Given the description of an element on the screen output the (x, y) to click on. 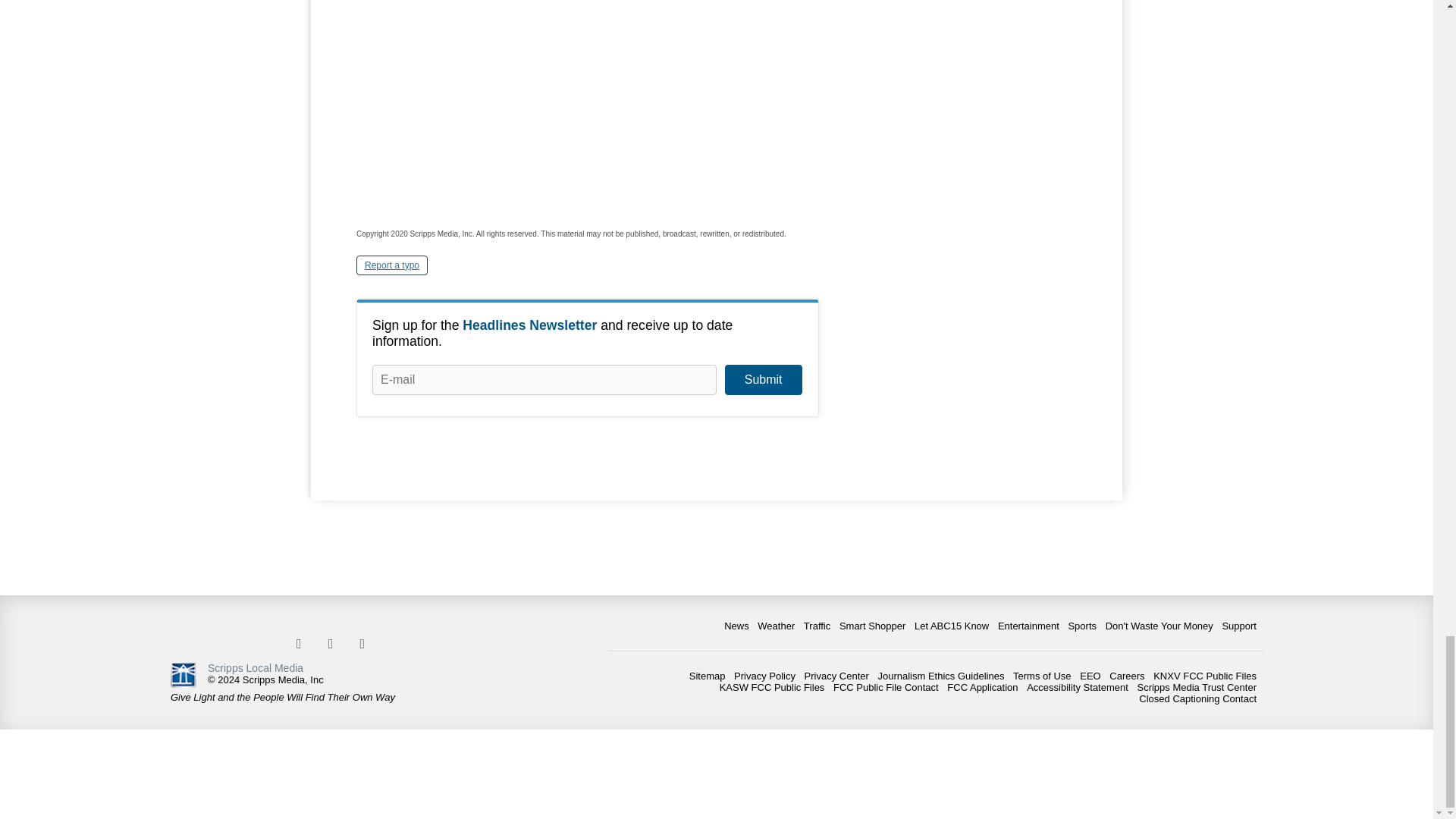
Submit (763, 379)
